Given the description of an element on the screen output the (x, y) to click on. 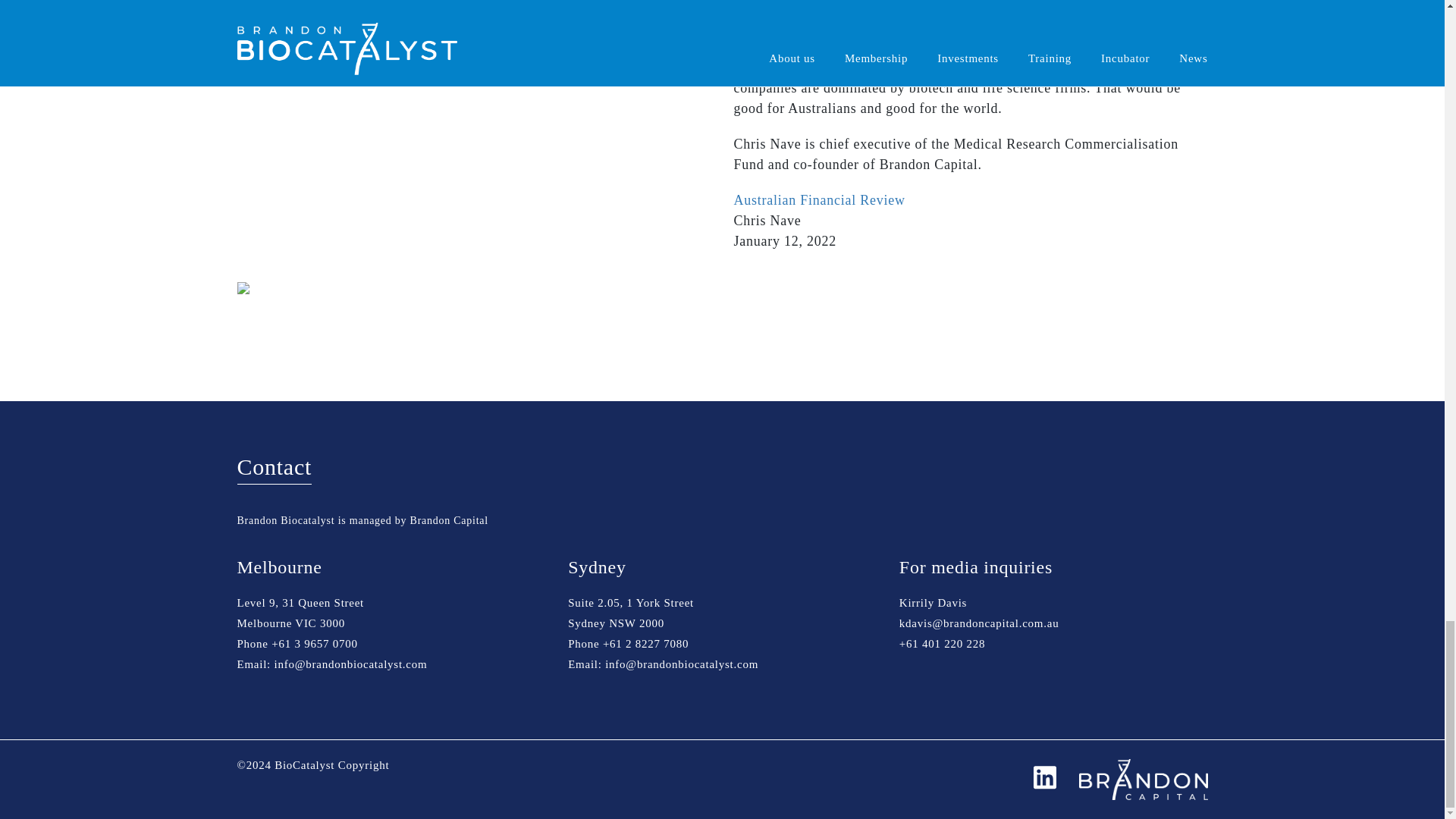
Australian Financial Review (819, 200)
